Given the description of an element on the screen output the (x, y) to click on. 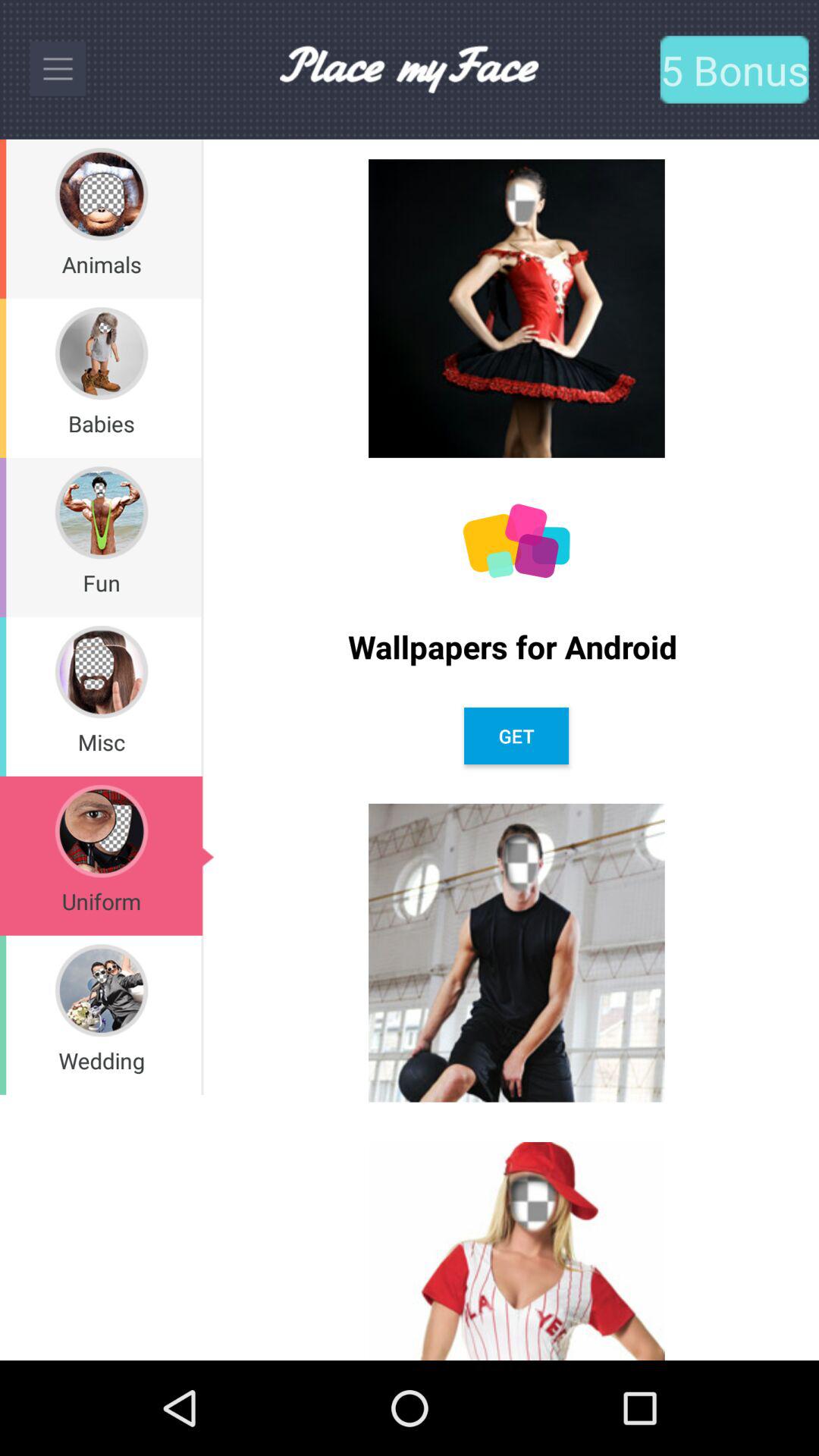
swipe to fun item (101, 582)
